Given the description of an element on the screen output the (x, y) to click on. 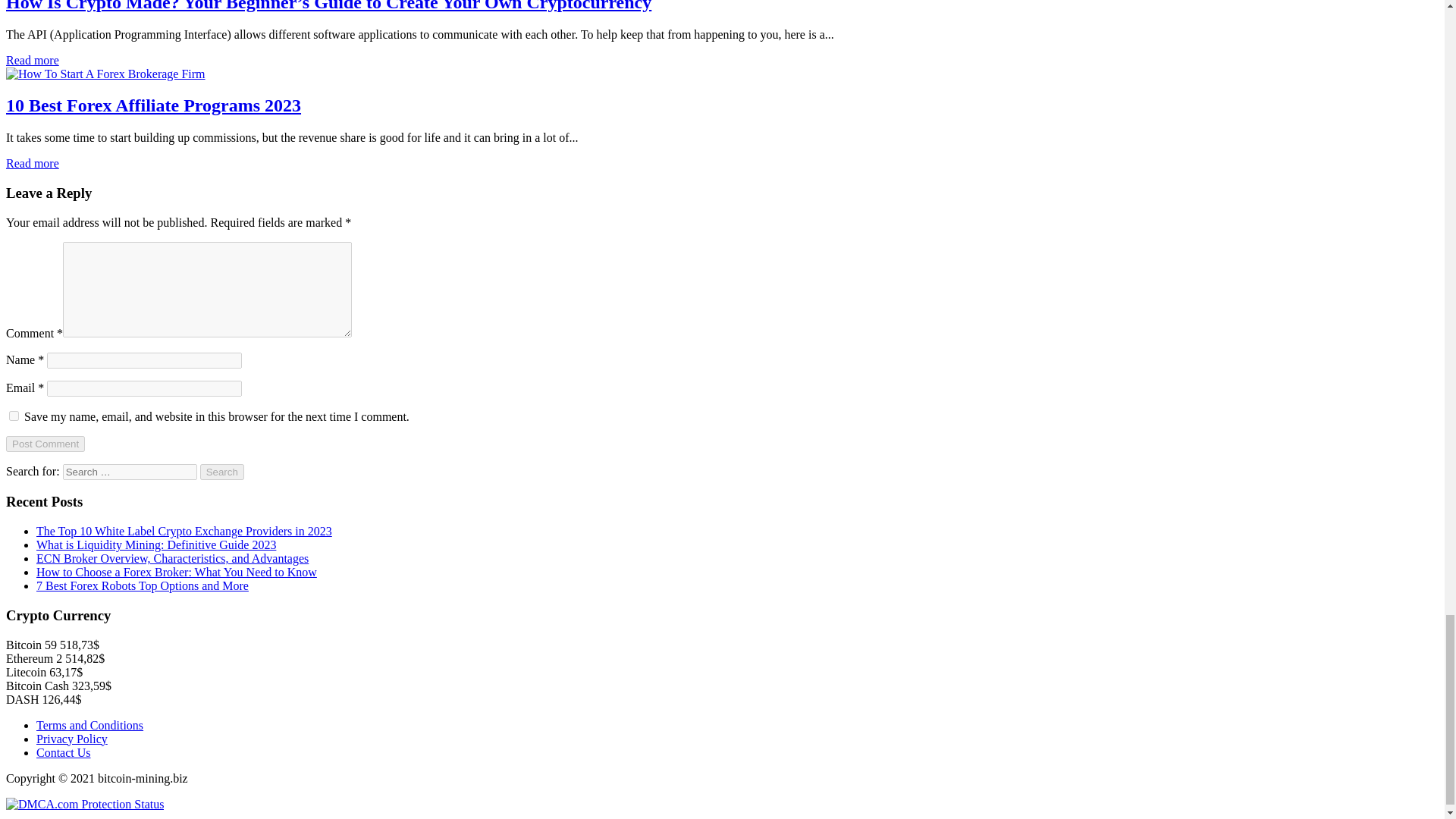
Post Comment (44, 443)
DMCA.com Protection Status (84, 803)
Search (222, 471)
yes (13, 415)
Search (222, 471)
10 Best Forex Affiliate Programs 2023 (105, 73)
